Given the description of an element on the screen output the (x, y) to click on. 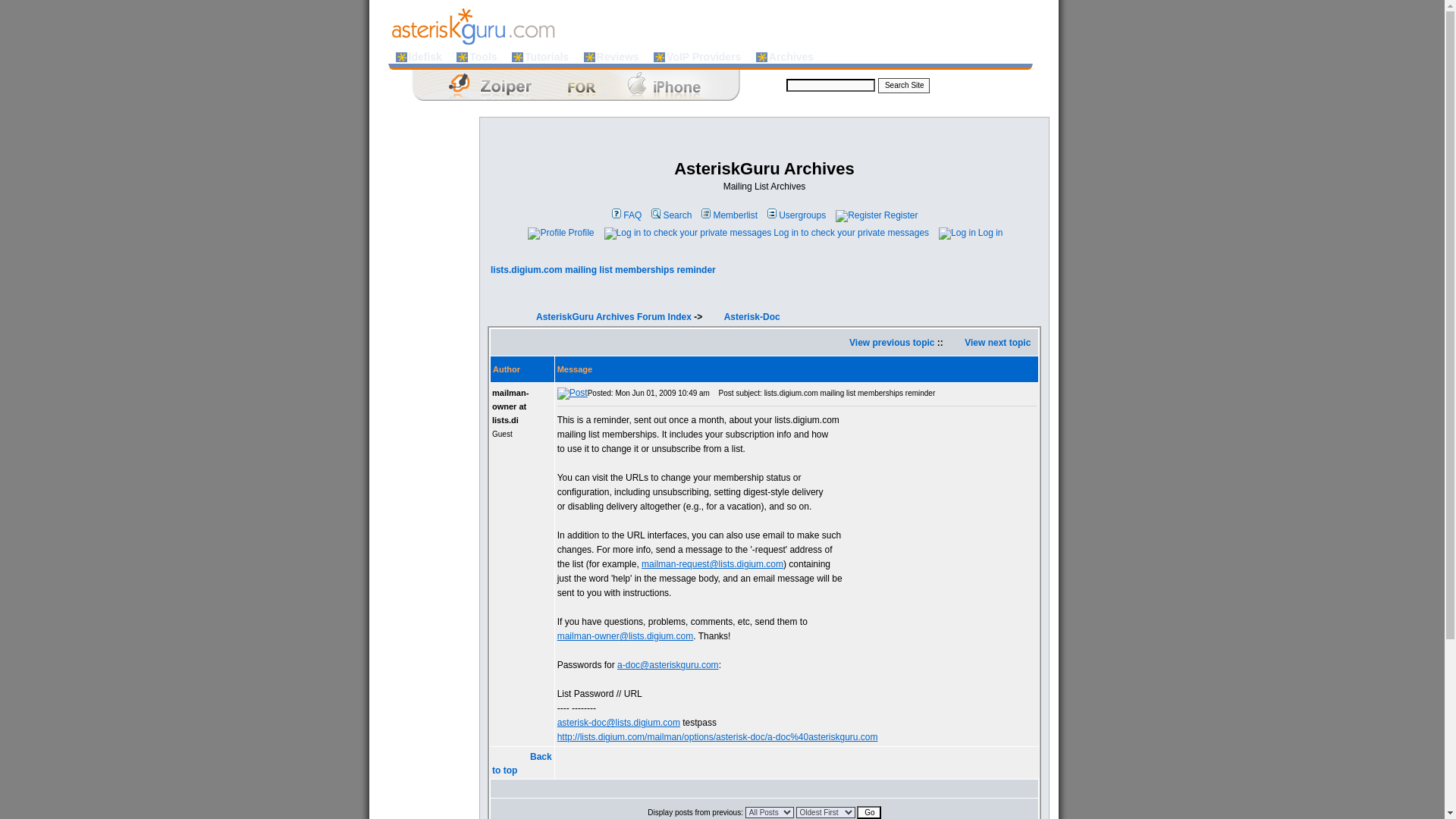
Asteriskguru Archives (790, 56)
Reviews (616, 56)
ZOIPER softphone (564, 85)
Back to top (521, 763)
AsteriskGuru Archives Forum Index (613, 317)
lists.digium.com mailing list memberships reminder (603, 269)
Register (874, 214)
Search (670, 214)
Idefisk (424, 56)
VoIP Providers (702, 56)
Archives (790, 56)
FAQ (626, 214)
Tools (482, 56)
Tools (482, 56)
VoIP Providers (702, 56)
